Given the description of an element on the screen output the (x, y) to click on. 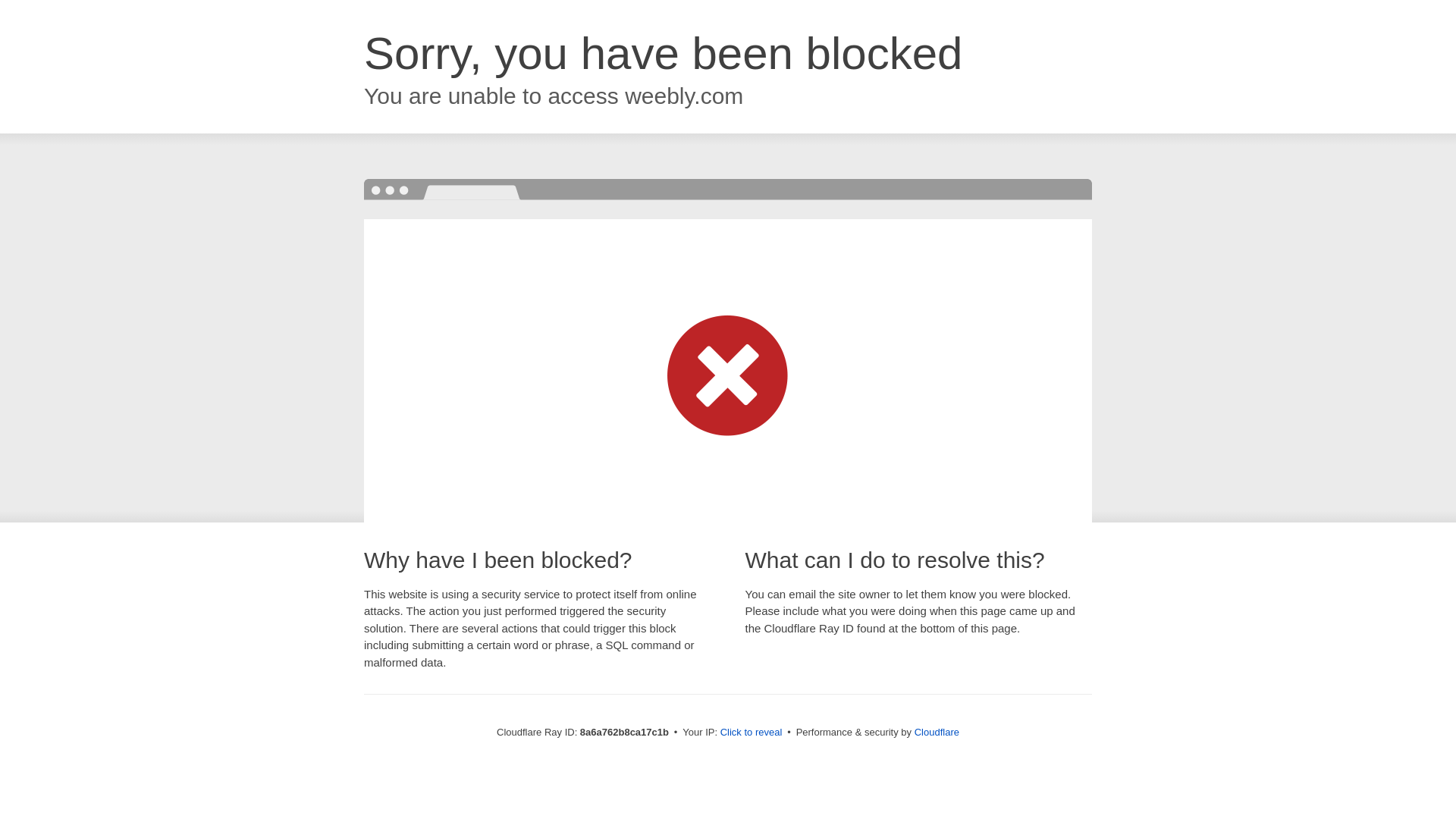
Click to reveal (751, 732)
Cloudflare (936, 731)
